Given the description of an element on the screen output the (x, y) to click on. 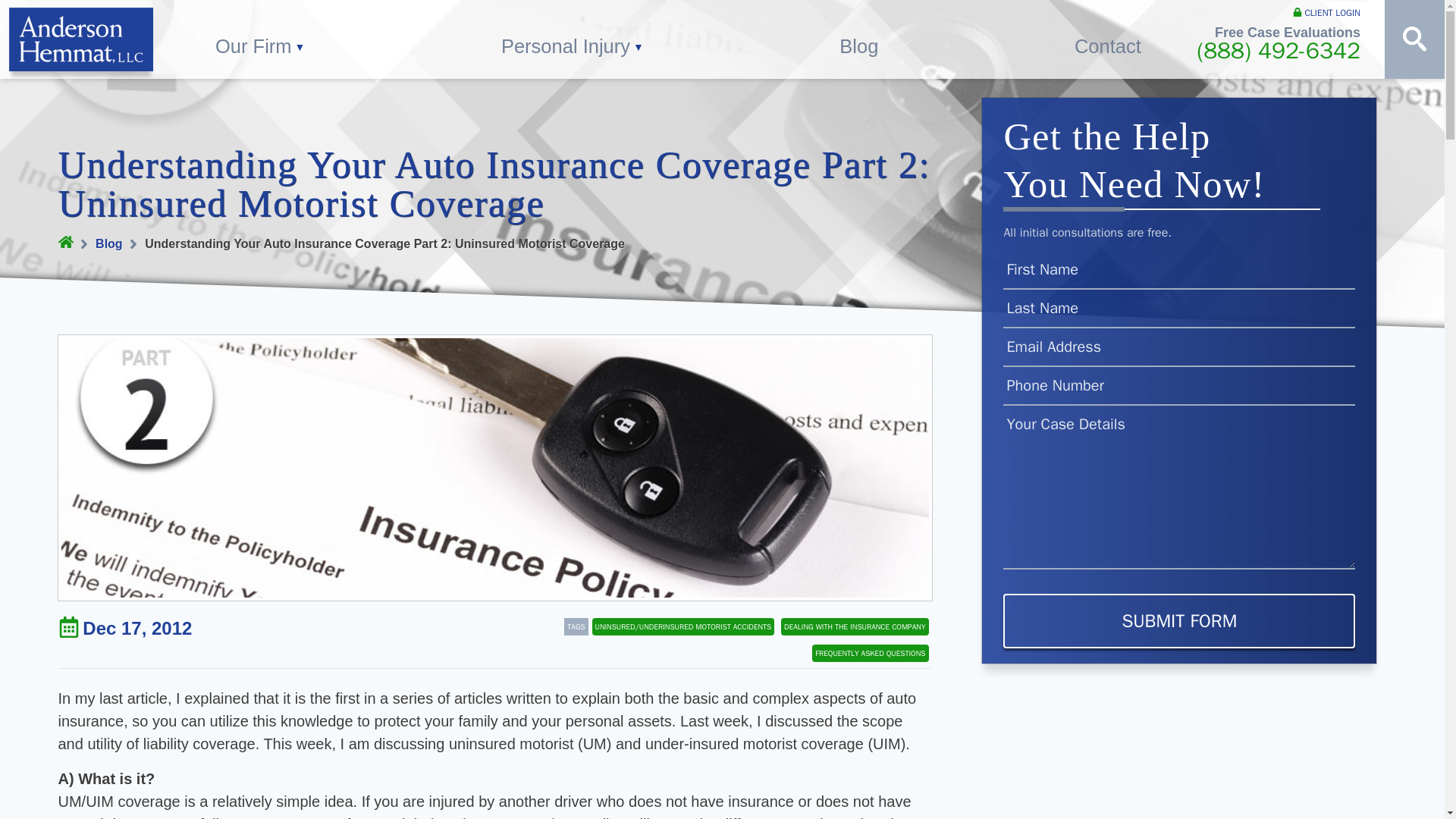
Personal Injury (572, 38)
Anderson Hemmat, LLC Logo (80, 39)
Our Firm (260, 38)
SUBMIT FORM (1179, 620)
